Given the description of an element on the screen output the (x, y) to click on. 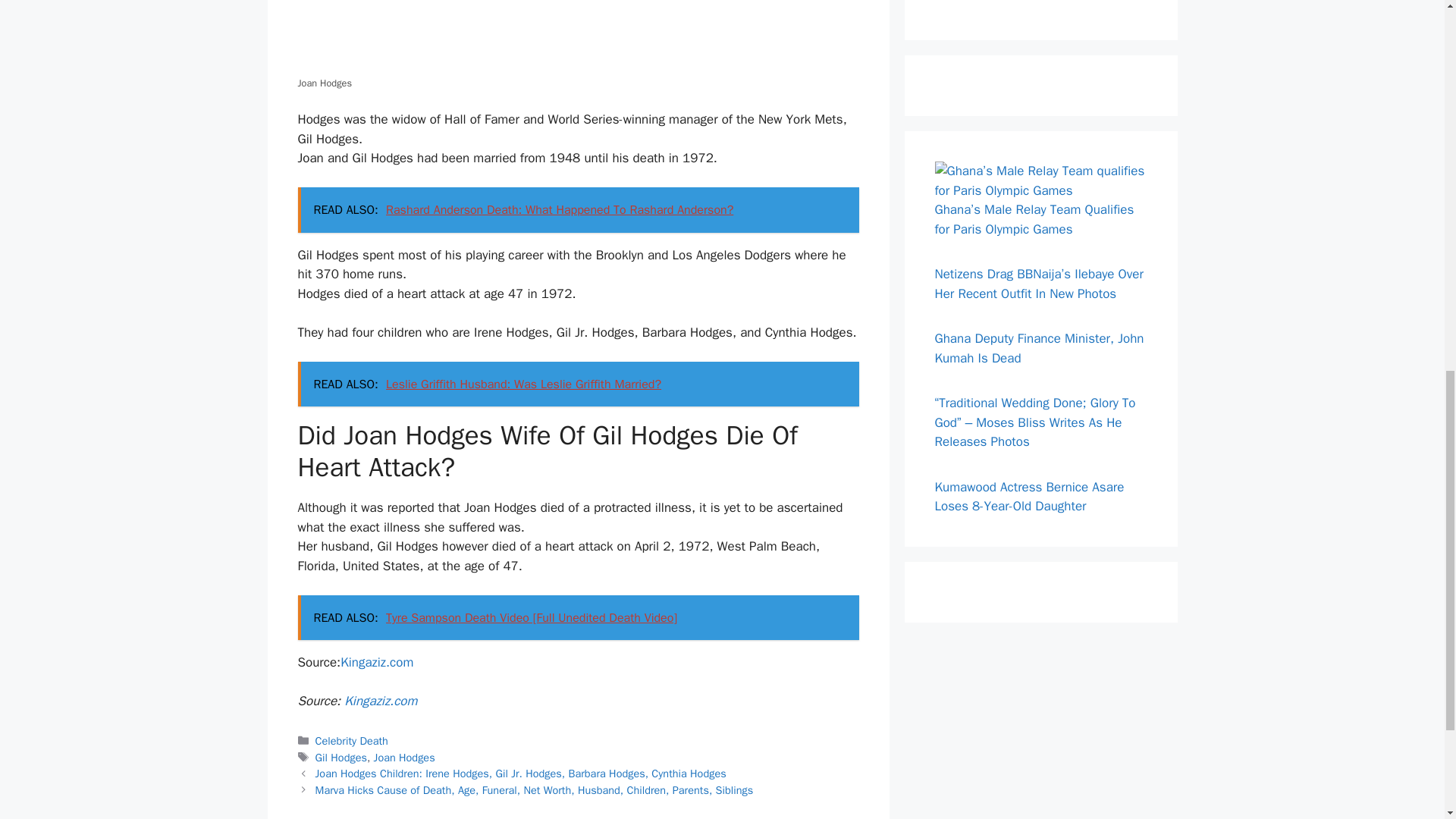
Kingaziz.com (376, 662)
Joan Hodges (404, 757)
Kumawood Actress Bernice Asare Loses 8-Year-Old Daughter (1029, 497)
Kingaziz.com (379, 700)
Ghana Deputy Finance Minister, John Kumah Is Dead (1038, 348)
Celebrity Death (351, 740)
Gil Hodges (340, 757)
